Given the description of an element on the screen output the (x, y) to click on. 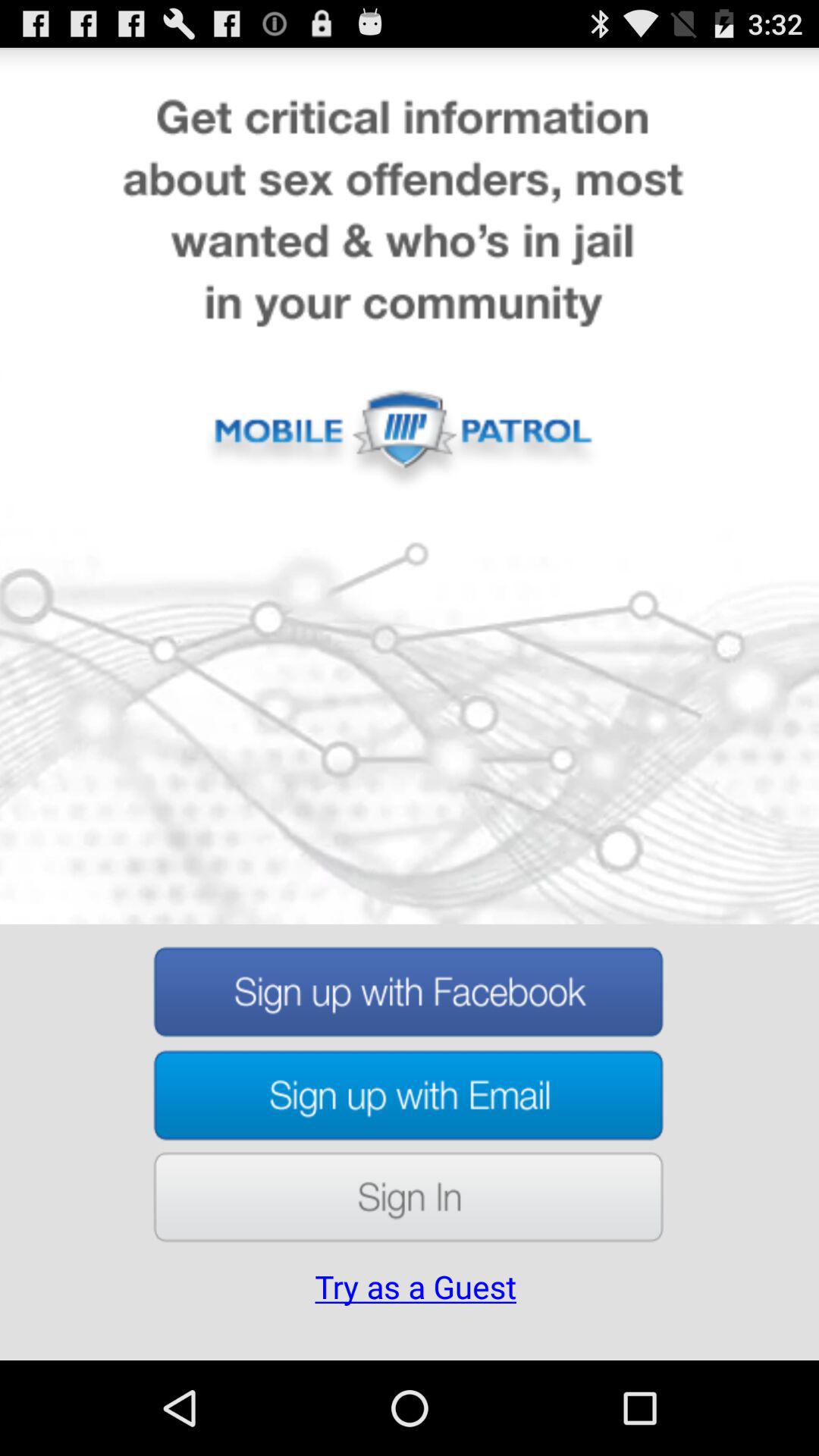
swipe until the try as a item (415, 1308)
